Given the description of an element on the screen output the (x, y) to click on. 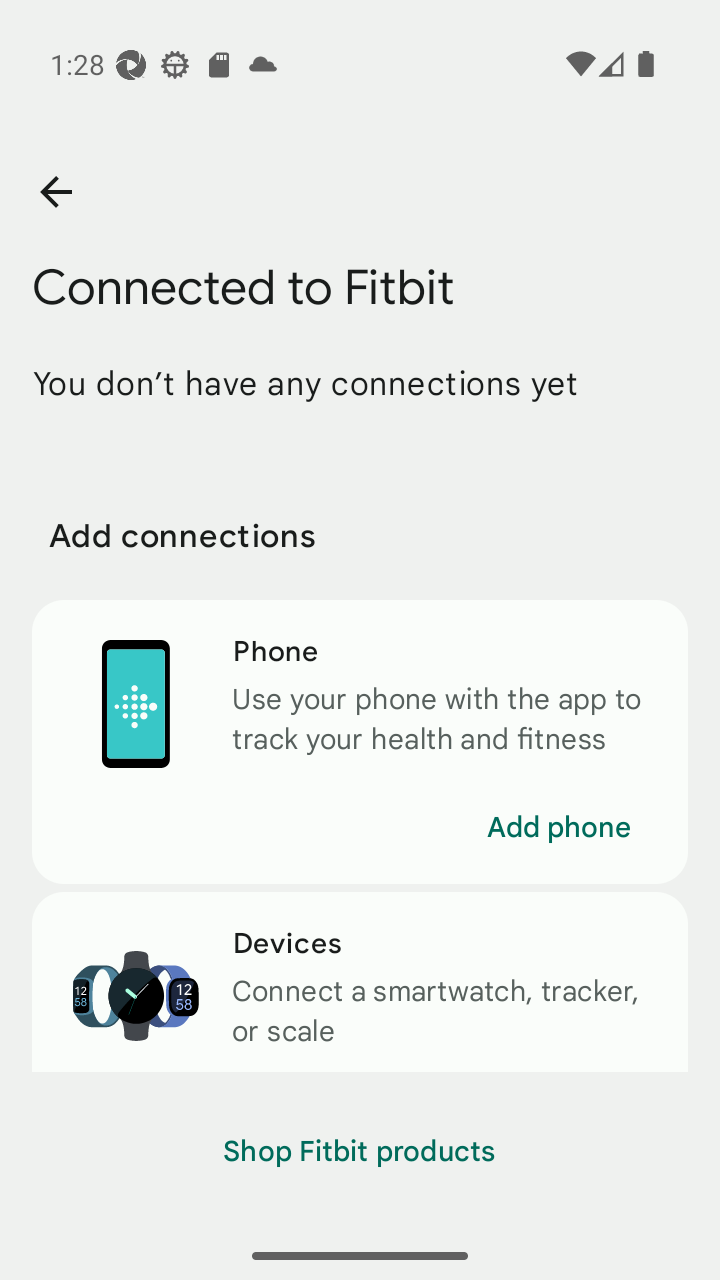
Go back (55, 191)
Add phone (558, 827)
Devices Connect a smartwatch, tracker, or scale (359, 982)
Shop Fitbit products (359, 1151)
